Given the description of an element on the screen output the (x, y) to click on. 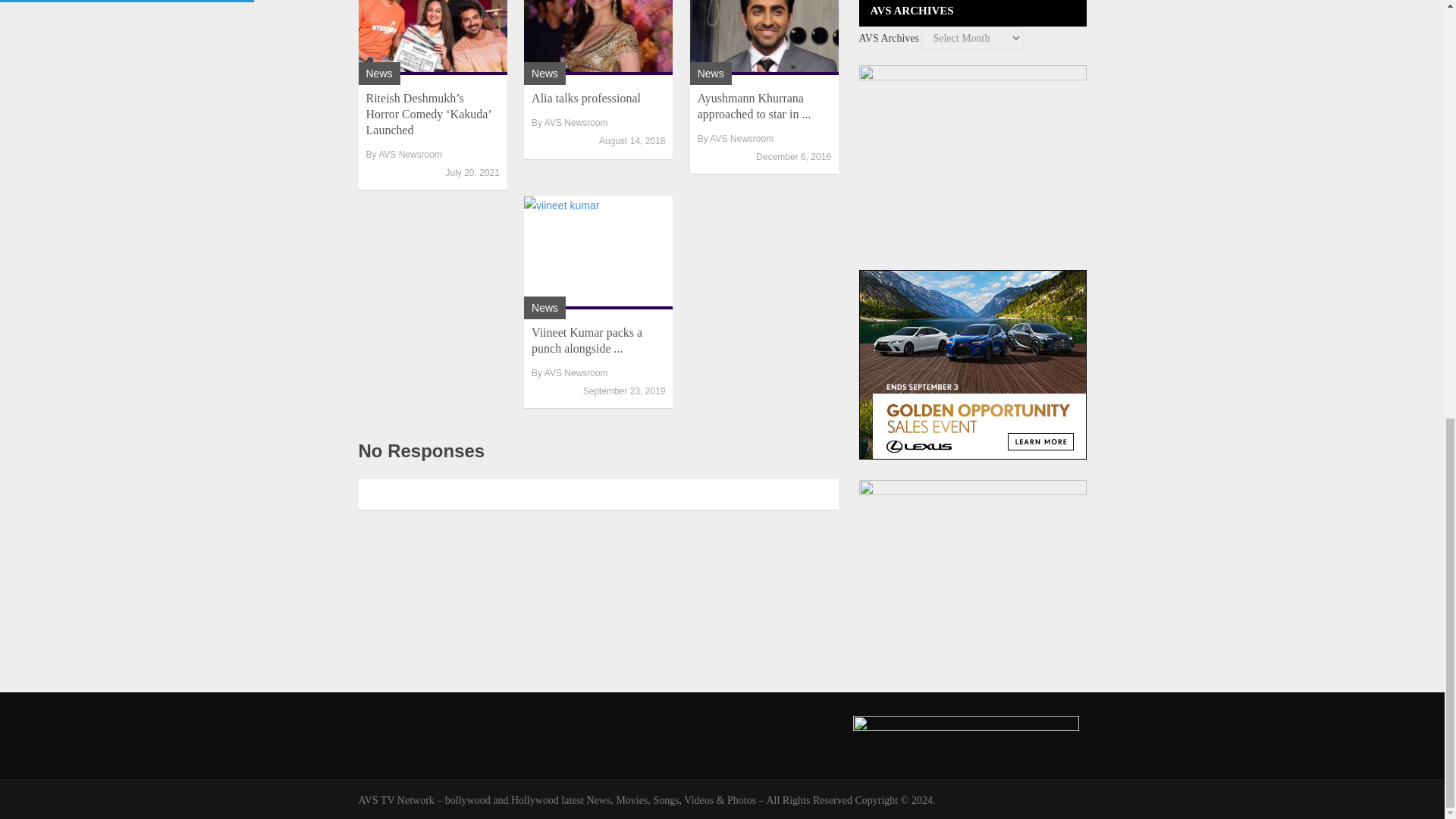
News (710, 73)
Ayushmann Khurrana approached to star in sequel to Hungama (764, 37)
View all posts in News (544, 73)
AVS Newsroom (410, 154)
View all posts in News (710, 73)
News (544, 307)
AVS Newsroom (576, 372)
Ayushmann Khurrana approached to star in ... (753, 105)
Alia talks professional (585, 97)
Alia talks professional (598, 37)
